Given the description of an element on the screen output the (x, y) to click on. 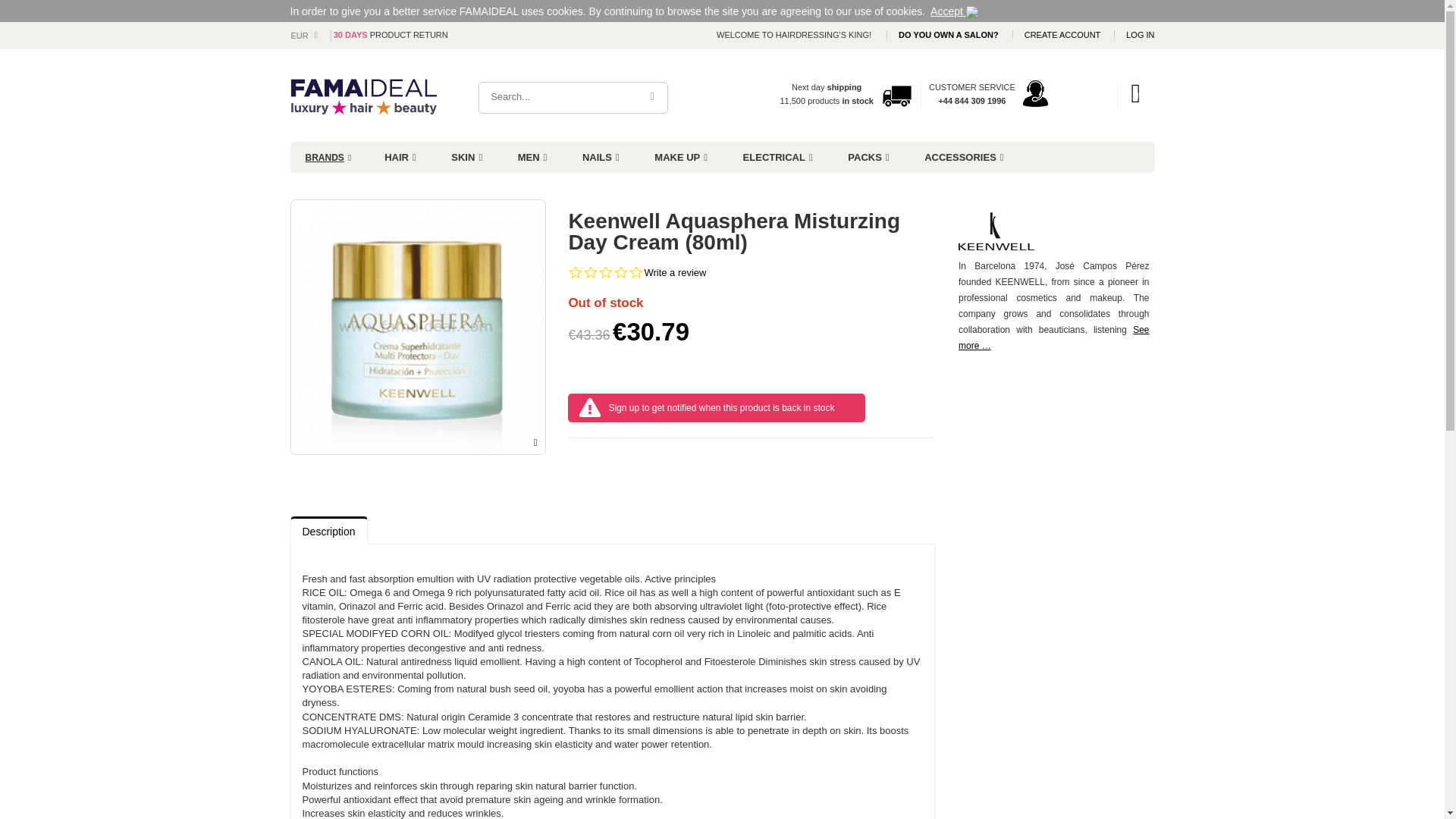
0 (1136, 92)
Create Account (1064, 34)
30 DAYS PRODUCT RETURN (390, 34)
FAMAIDEAL (343, 95)
Log in (1139, 34)
CREATE ACCOUNT (1064, 34)
Do you own a salon? (949, 34)
Accept (954, 10)
DO YOU OWN A SALON? (949, 34)
Search (651, 96)
BRANDS (327, 157)
LOG IN (1139, 34)
Sign up to get notified when this product is back in stock (721, 407)
